Given the description of an element on the screen output the (x, y) to click on. 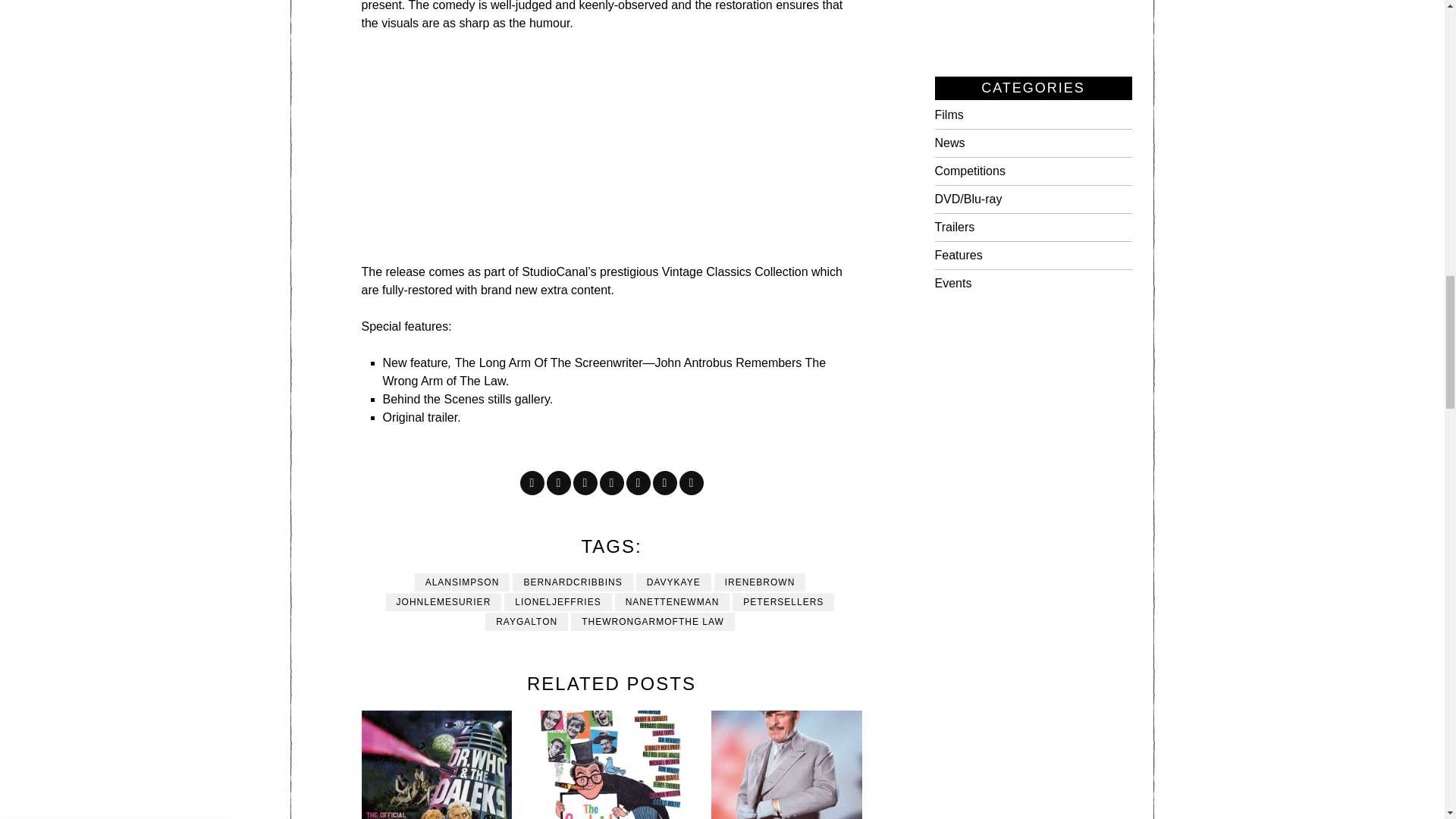
Advertisement (1034, 22)
Events (952, 282)
PETERSELLERS (783, 601)
RAYGALTON (525, 621)
IRENEBROWN (760, 582)
DAVYKAYE (673, 582)
LIONELJEFFRIES (557, 601)
JOHNLEMESURIER (443, 601)
THEWRONGARMOFTHE LAW (652, 621)
ALANSIMPSON (462, 582)
Advertisement (634, 156)
NANETTENEWMAN (672, 601)
BERNARDCRIBBINS (571, 582)
